Given the description of an element on the screen output the (x, y) to click on. 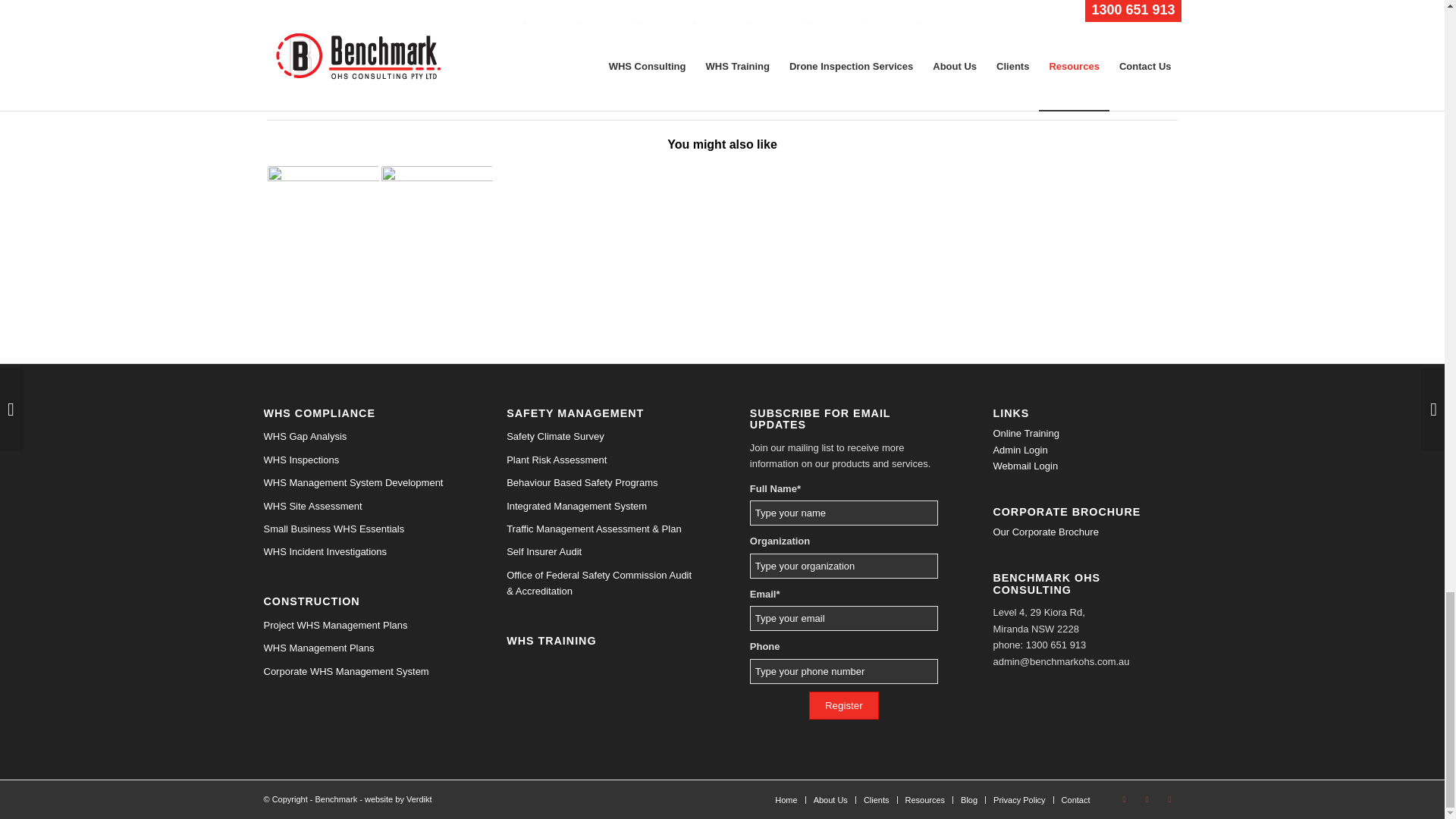
WHS Site Assessment (357, 506)
Safety Climate Survey (600, 436)
WHS Gap Analysis (357, 436)
WHS Management System Development (357, 482)
Importance of OHS Consulting services in a Workplace (322, 221)
Corporate WHS Management System (357, 671)
Plant Risk Assessment (600, 459)
WHS Incident Investigations (357, 551)
Behaviour Based Safety Programs (600, 482)
WHS Inspections (357, 459)
